Given the description of an element on the screen output the (x, y) to click on. 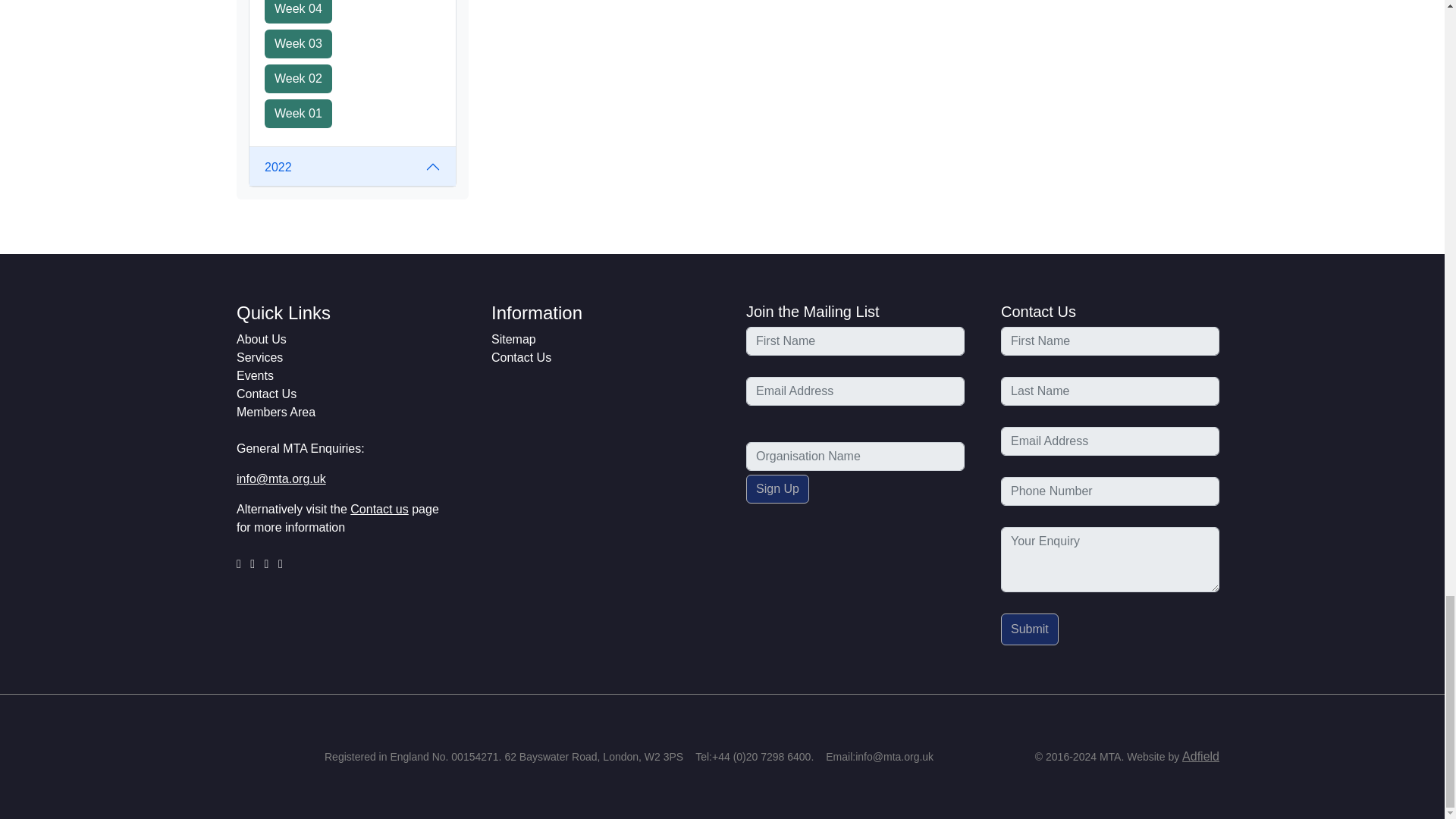
Submit (1029, 629)
Sign Up (777, 489)
